Given the description of an element on the screen output the (x, y) to click on. 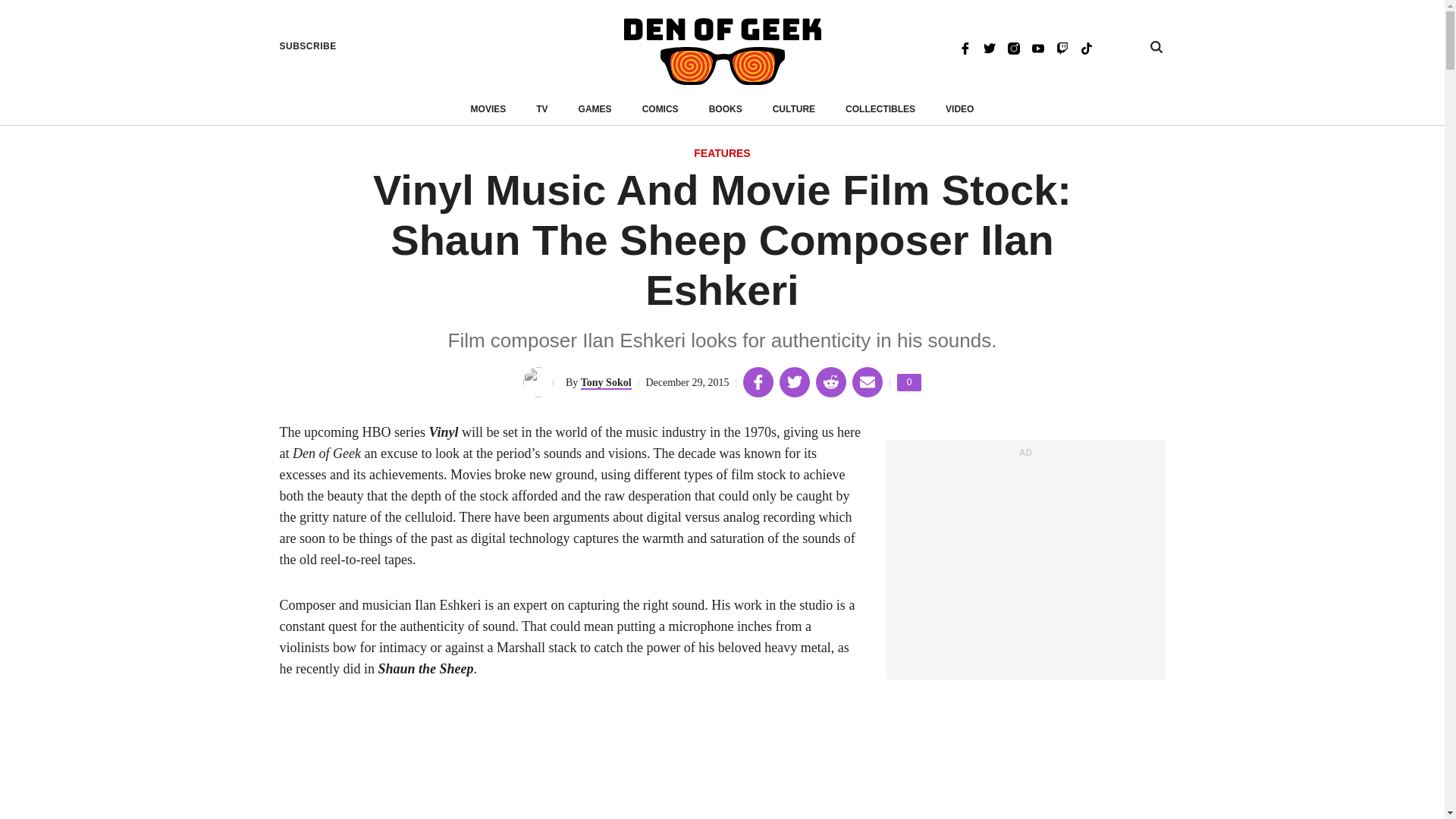
COMICS (660, 109)
MOVIES (488, 109)
SUBSCRIBE (307, 46)
BOOKS (725, 109)
Tony Sokol (605, 382)
TikTok (908, 382)
Instagram (1085, 46)
COLLECTIBLES (1013, 46)
GAMES (880, 109)
